Given the description of an element on the screen output the (x, y) to click on. 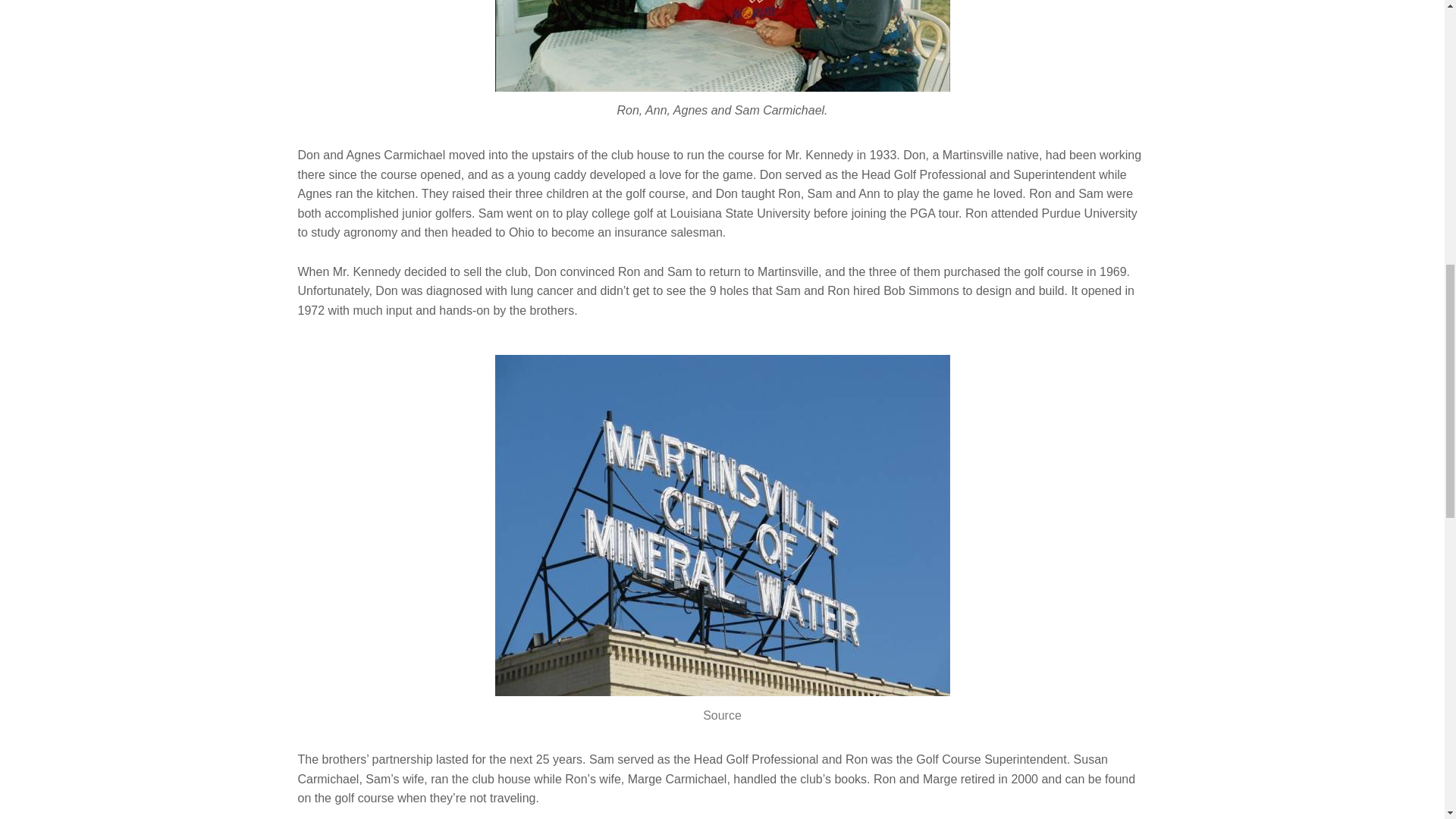
Source (722, 715)
